Given the description of an element on the screen output the (x, y) to click on. 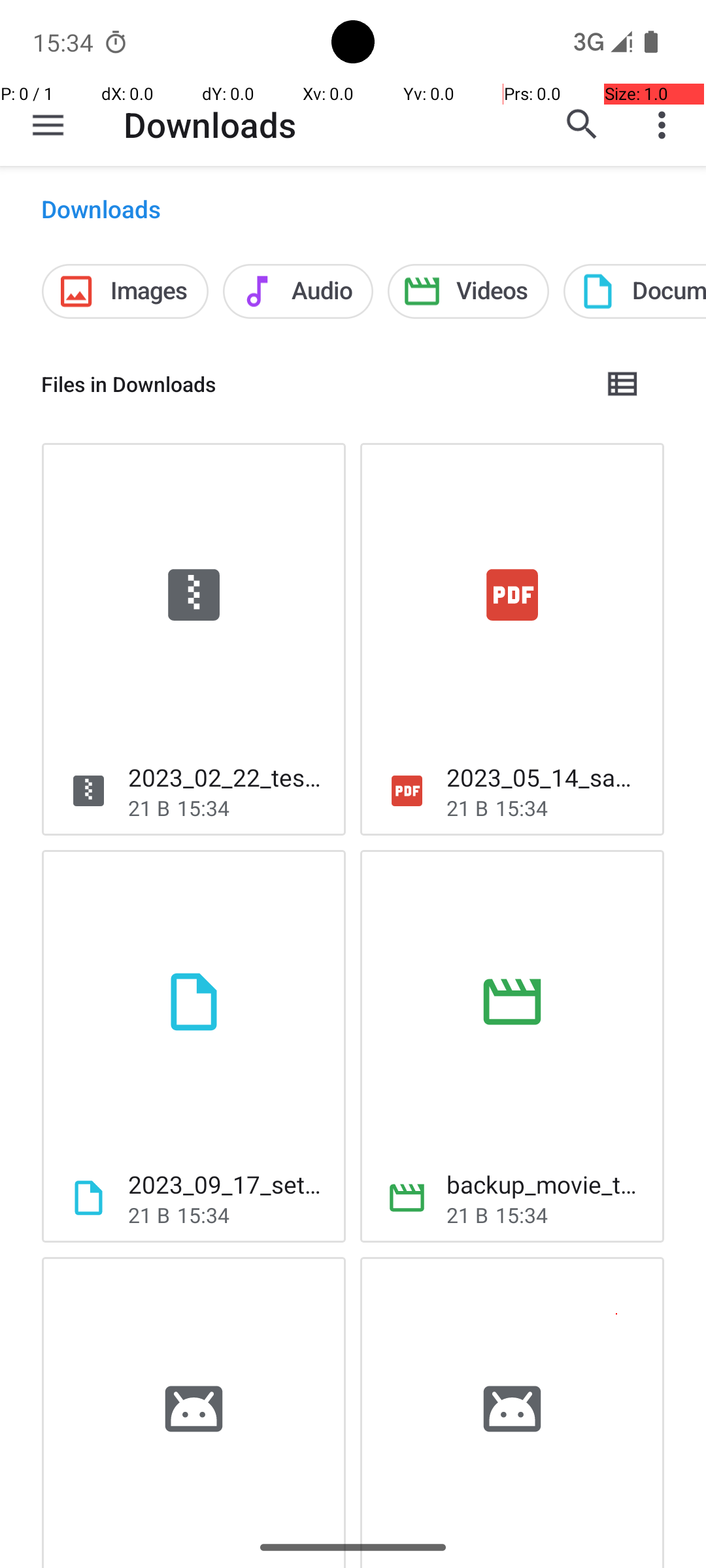
2023_02_22_test_download.zip Element type: android.widget.TextView (226, 776)
21 B Element type: android.widget.TextView (148, 807)
2023_05_14_sample_pdf.pdf Element type: android.widget.TextView (544, 776)
2023_09_17_setup_exe.exe Element type: android.widget.TextView (226, 1183)
backup_movie_trailer.mp4 Element type: android.widget.TextView (544, 1183)
